Given the description of an element on the screen output the (x, y) to click on. 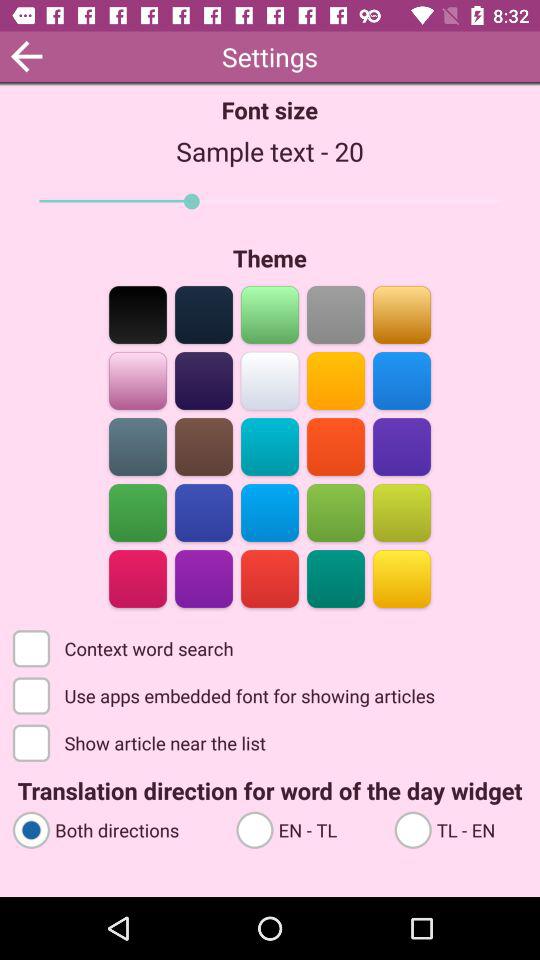
theme color option (269, 511)
